Given the description of an element on the screen output the (x, y) to click on. 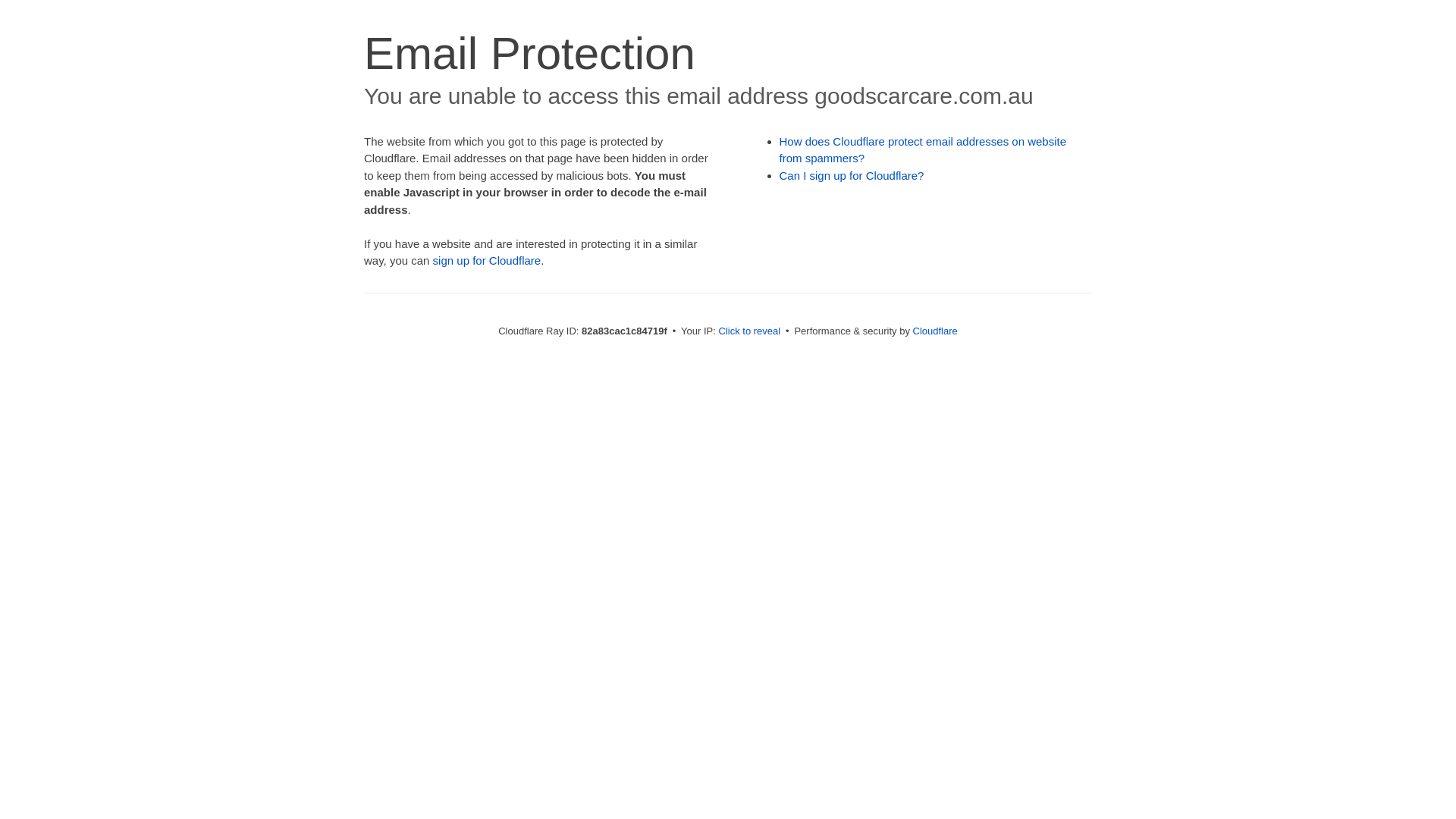
Can I sign up for Cloudflare? Element type: text (851, 175)
sign up for Cloudflare Element type: text (487, 260)
Click to reveal Element type: text (749, 330)
Cloudflare Element type: text (935, 330)
